Given the description of an element on the screen output the (x, y) to click on. 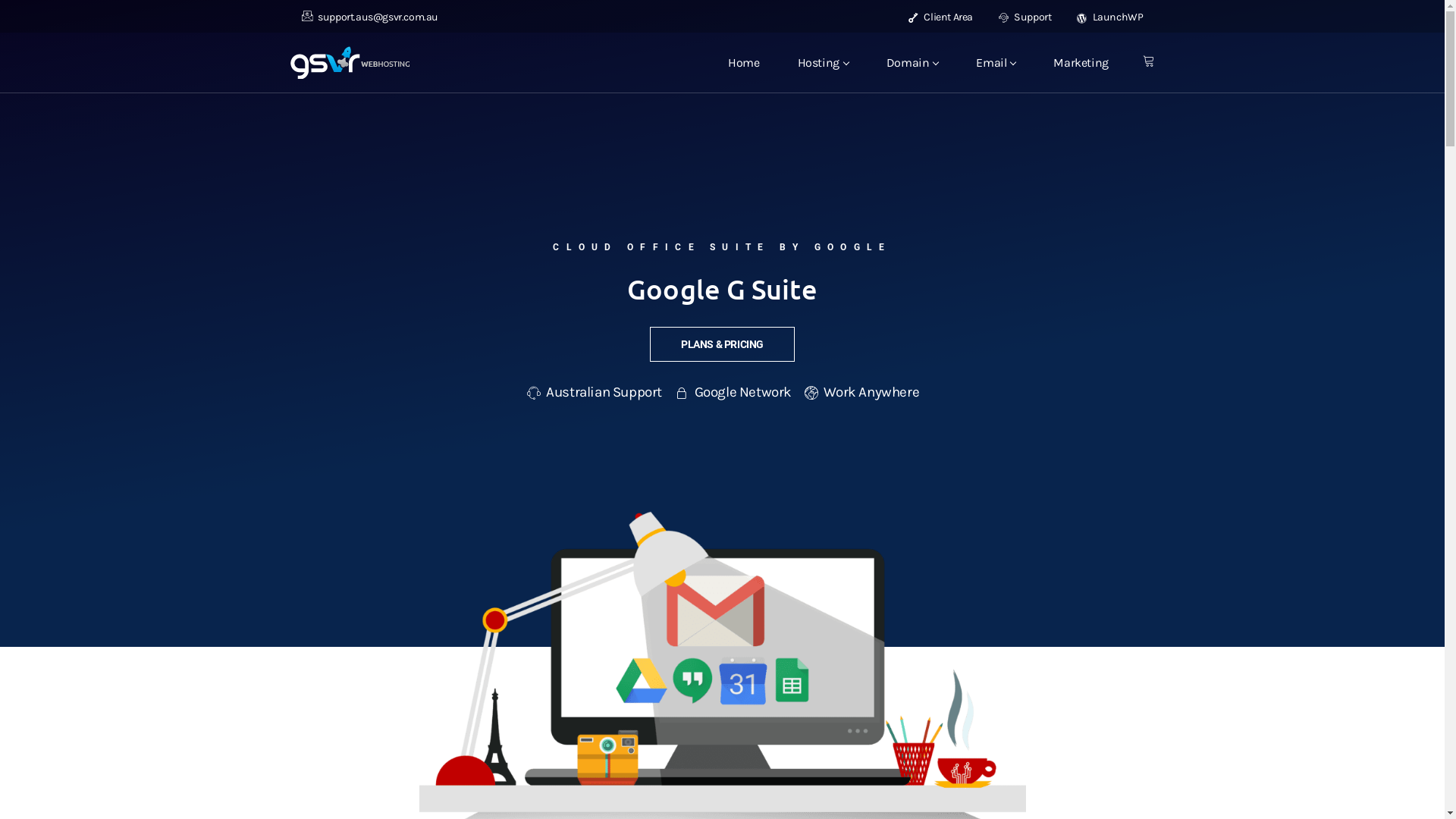
support.aus@gsvr.com.au Element type: text (369, 16)
Hosting Element type: text (822, 62)
PLANS & PRICING Element type: text (721, 343)
Email Element type: text (995, 62)
Domain Element type: text (912, 62)
LaunchWP Element type: text (1109, 16)
Marketing Element type: text (1080, 62)
Home Element type: text (743, 62)
Client Area Element type: text (940, 16)
Support Element type: text (1024, 16)
